Given the description of an element on the screen output the (x, y) to click on. 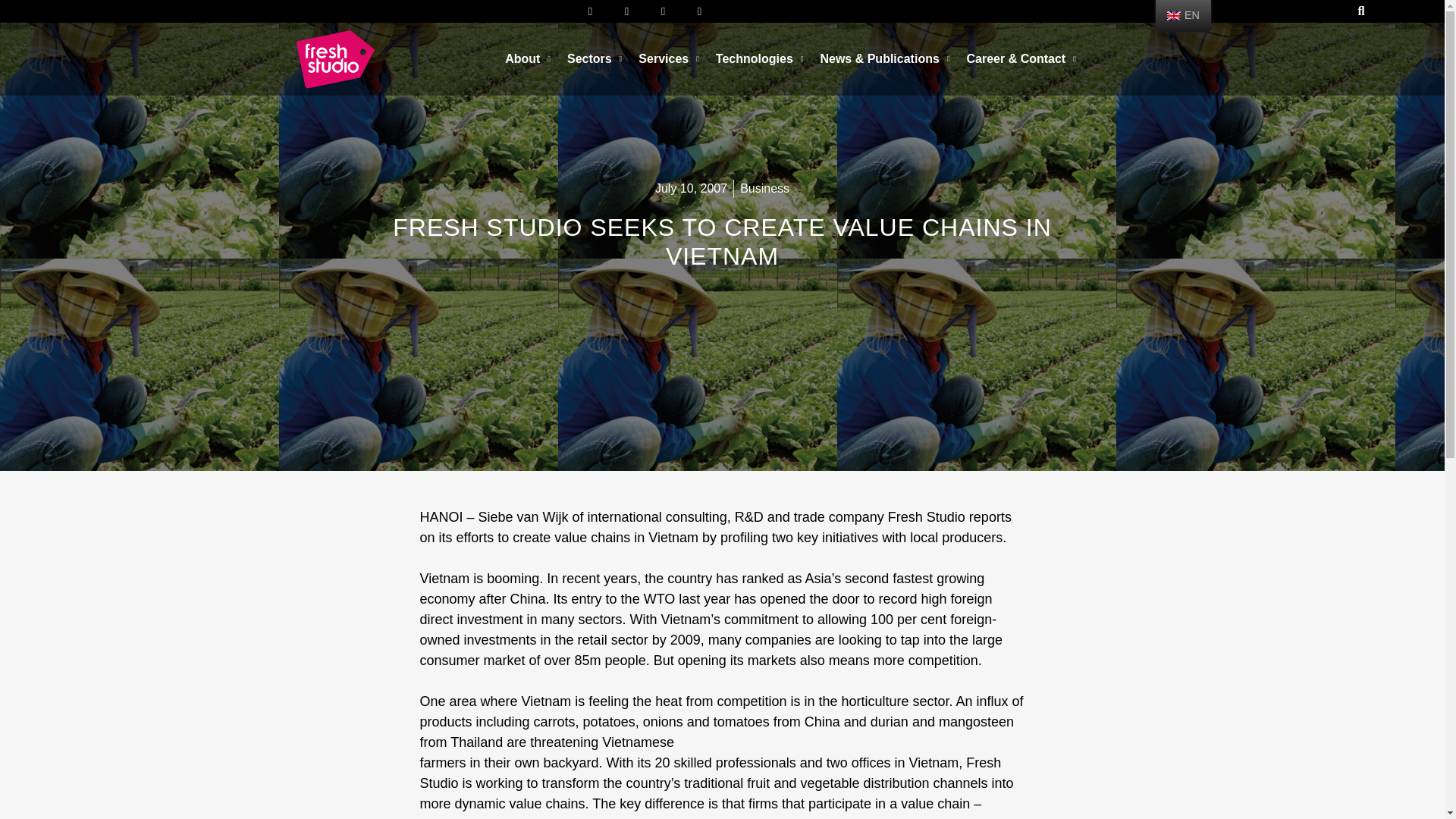
Technologies (759, 58)
English (1173, 15)
About (527, 58)
Services (668, 58)
Sectors (594, 58)
